Given the description of an element on the screen output the (x, y) to click on. 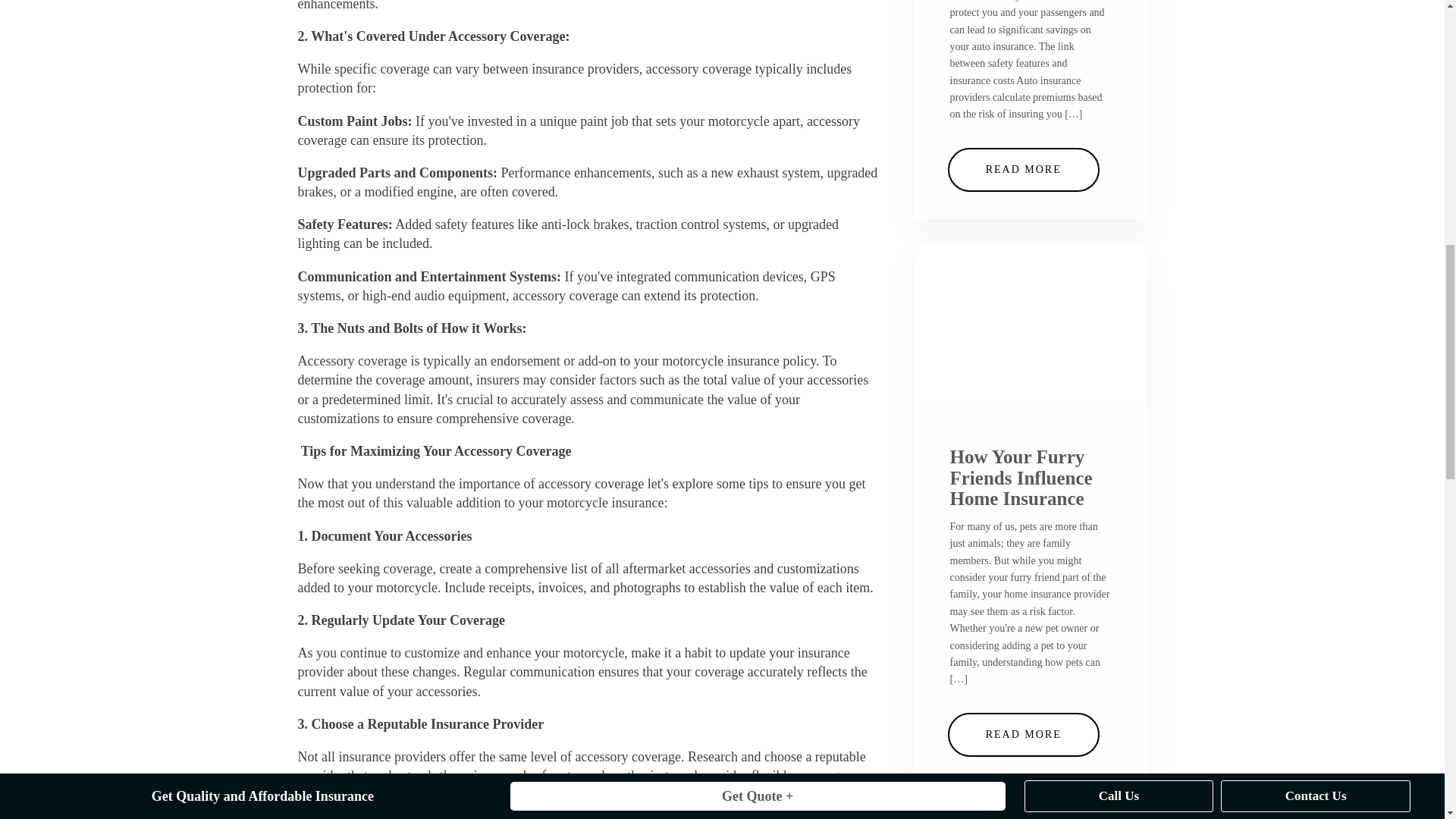
READ MORE (1023, 734)
READ MORE (1023, 169)
